Given the description of an element on the screen output the (x, y) to click on. 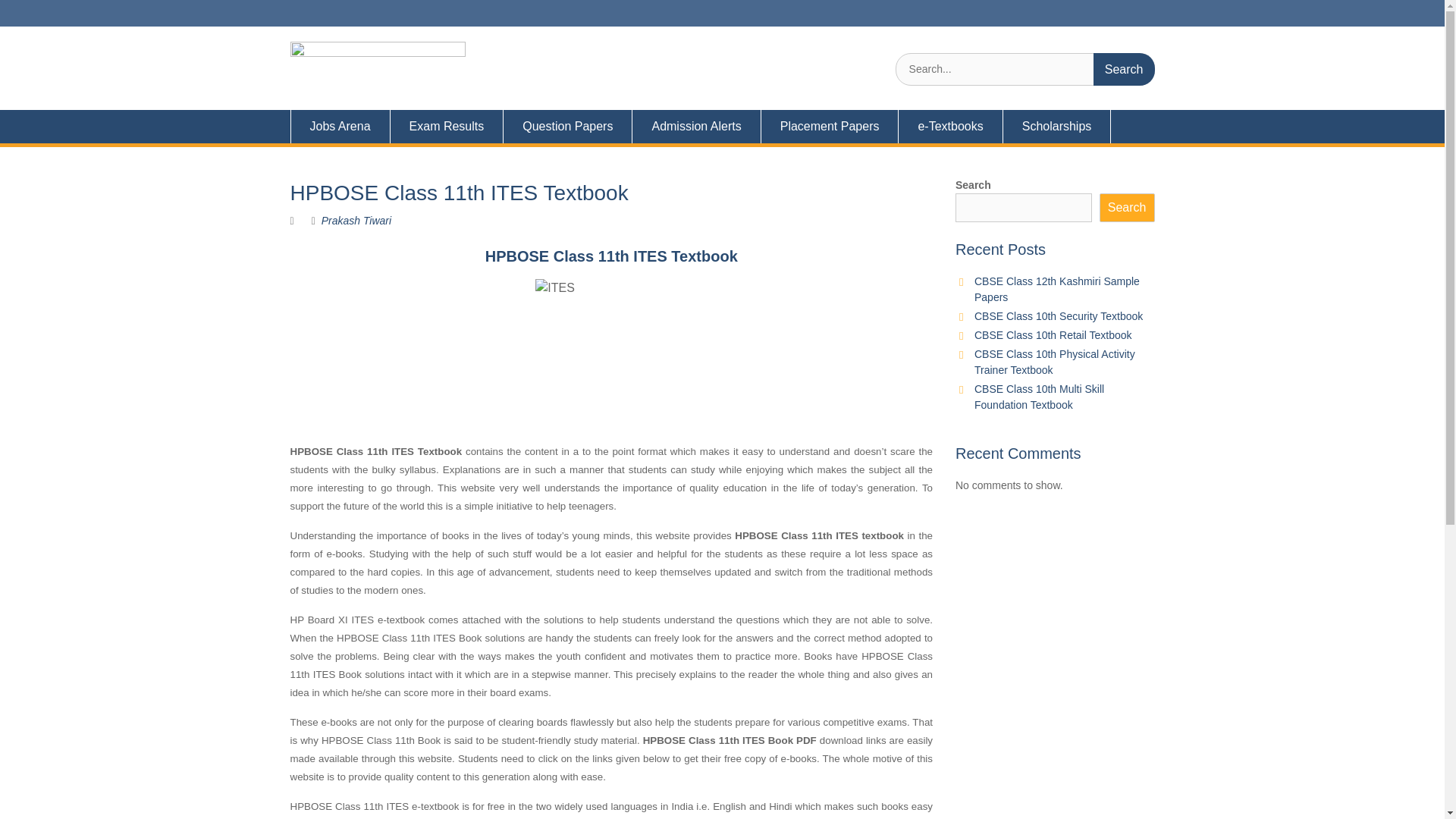
CBSE Class 10th Physical Activity Trainer Textbook (1054, 361)
Exam Results (446, 126)
Admission Alerts (695, 126)
Placement Papers (830, 126)
CBSE Class 10th Retail Textbook (1053, 335)
Jobs Arena (339, 126)
Search (1123, 69)
CBSE Class 10th Multi Skill Foundation Textbook (1038, 397)
CBSE Class 10th Security Textbook (1058, 316)
Scholarships (1057, 126)
Question Papers (567, 126)
e-Textbooks (950, 126)
Search (1123, 69)
CBSE Class 12th Kashmiri Sample Papers (1057, 289)
Search (1123, 69)
